Given the description of an element on the screen output the (x, y) to click on. 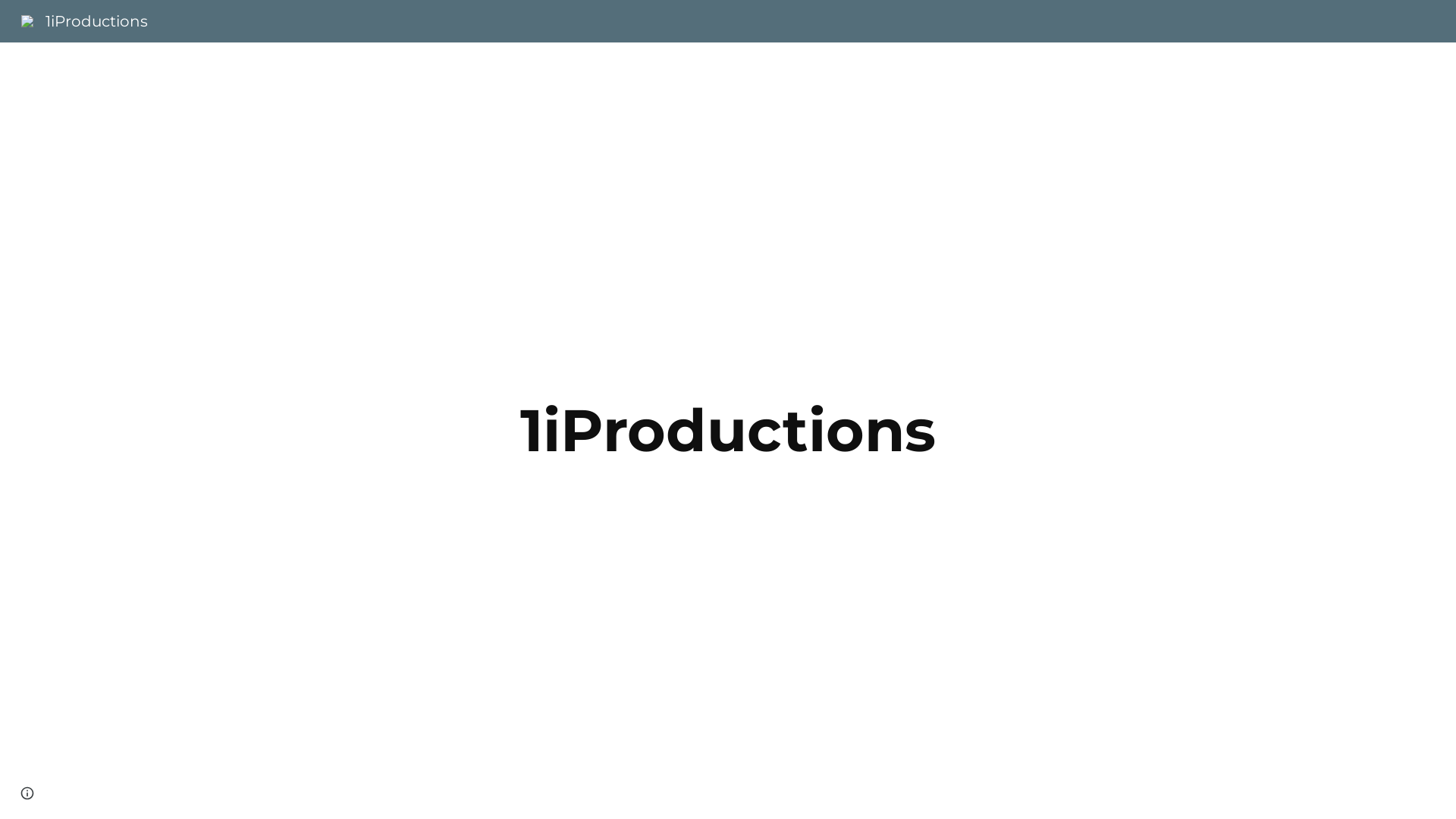
1iProductions Element type: text (84, 19)
